Given the description of an element on the screen output the (x, y) to click on. 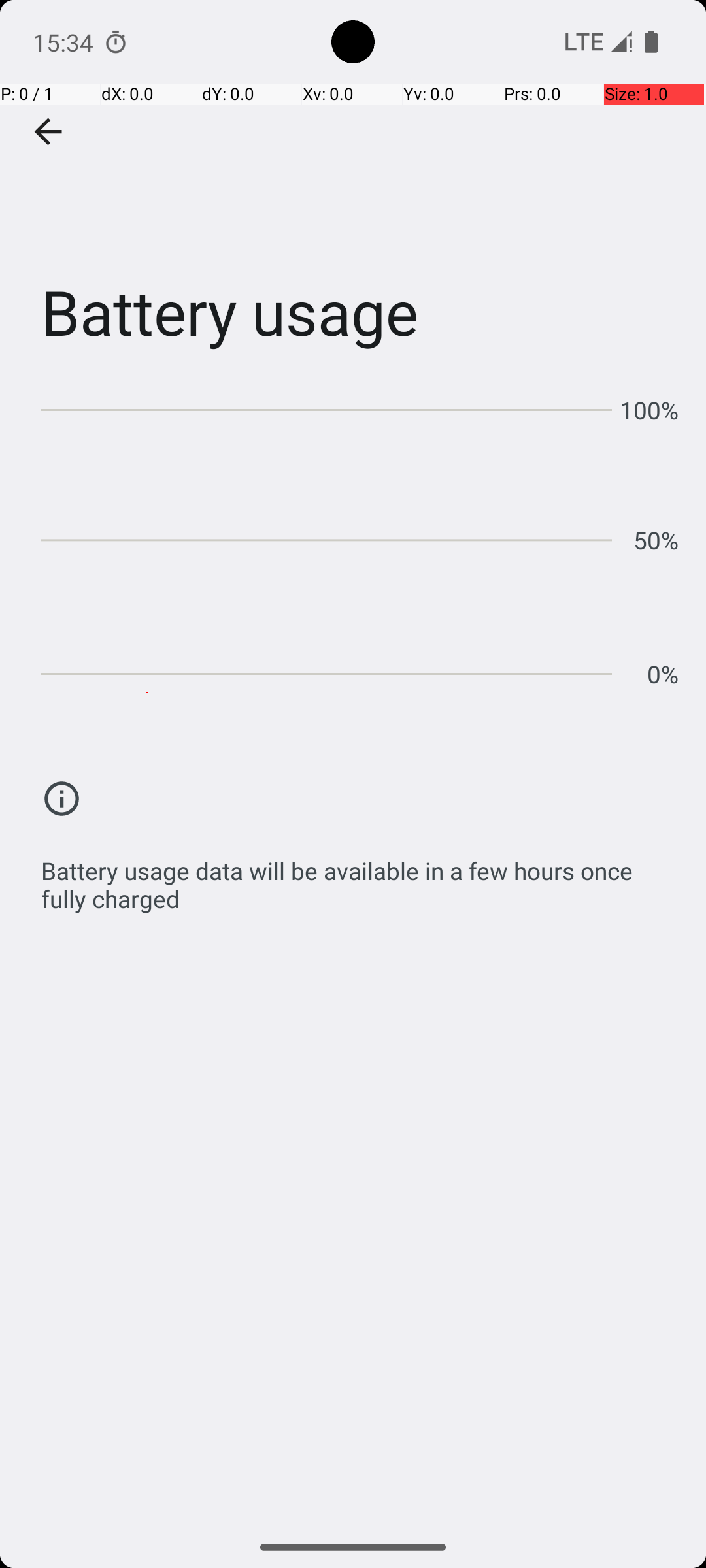
Hourly battery usage chart Element type: android.widget.ImageView (359, 536)
Battery usage data will be available in a few hours once fully charged Element type: android.widget.TextView (359, 877)
